Given the description of an element on the screen output the (x, y) to click on. 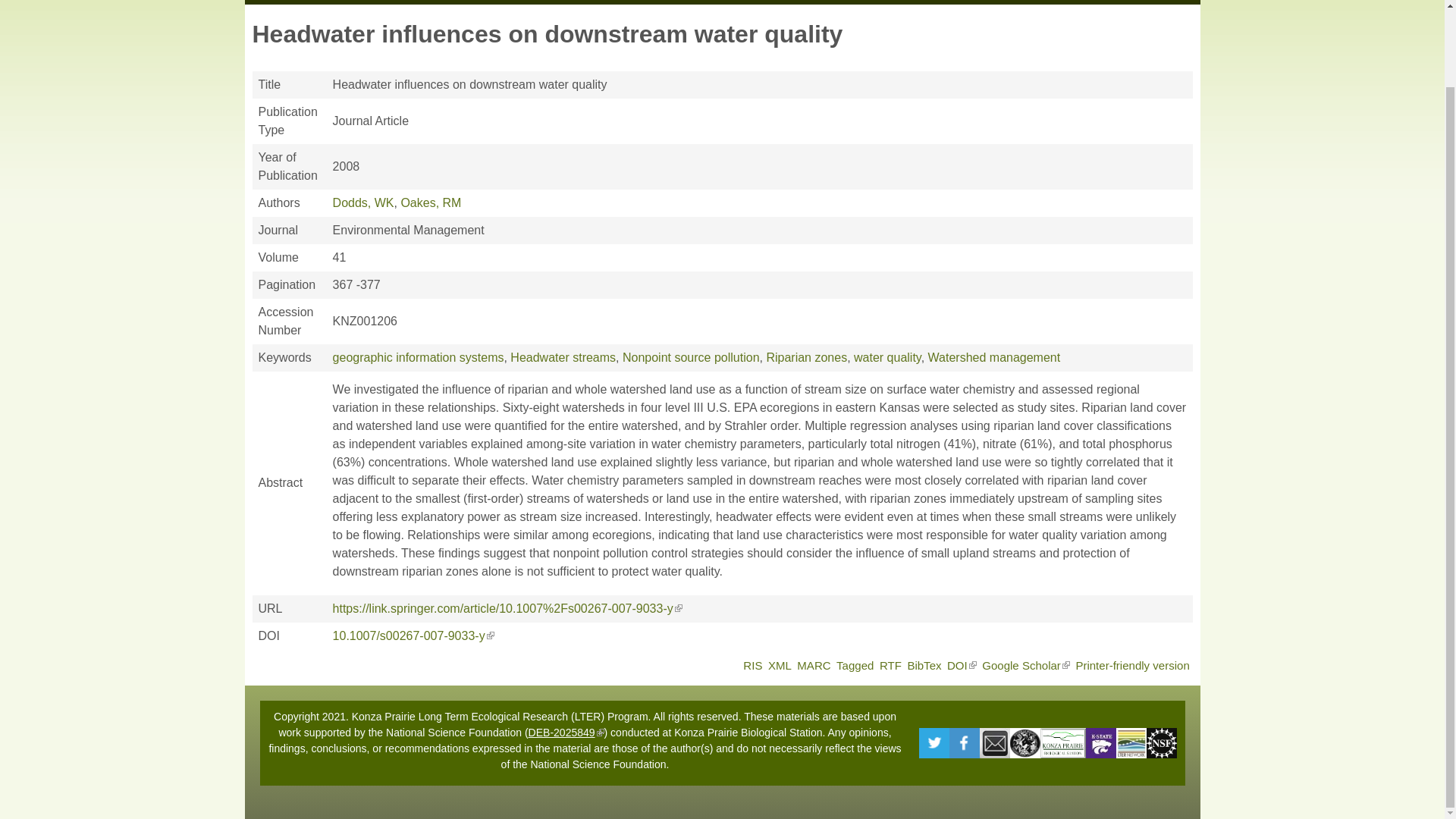
Home (271, 2)
